Given the description of an element on the screen output the (x, y) to click on. 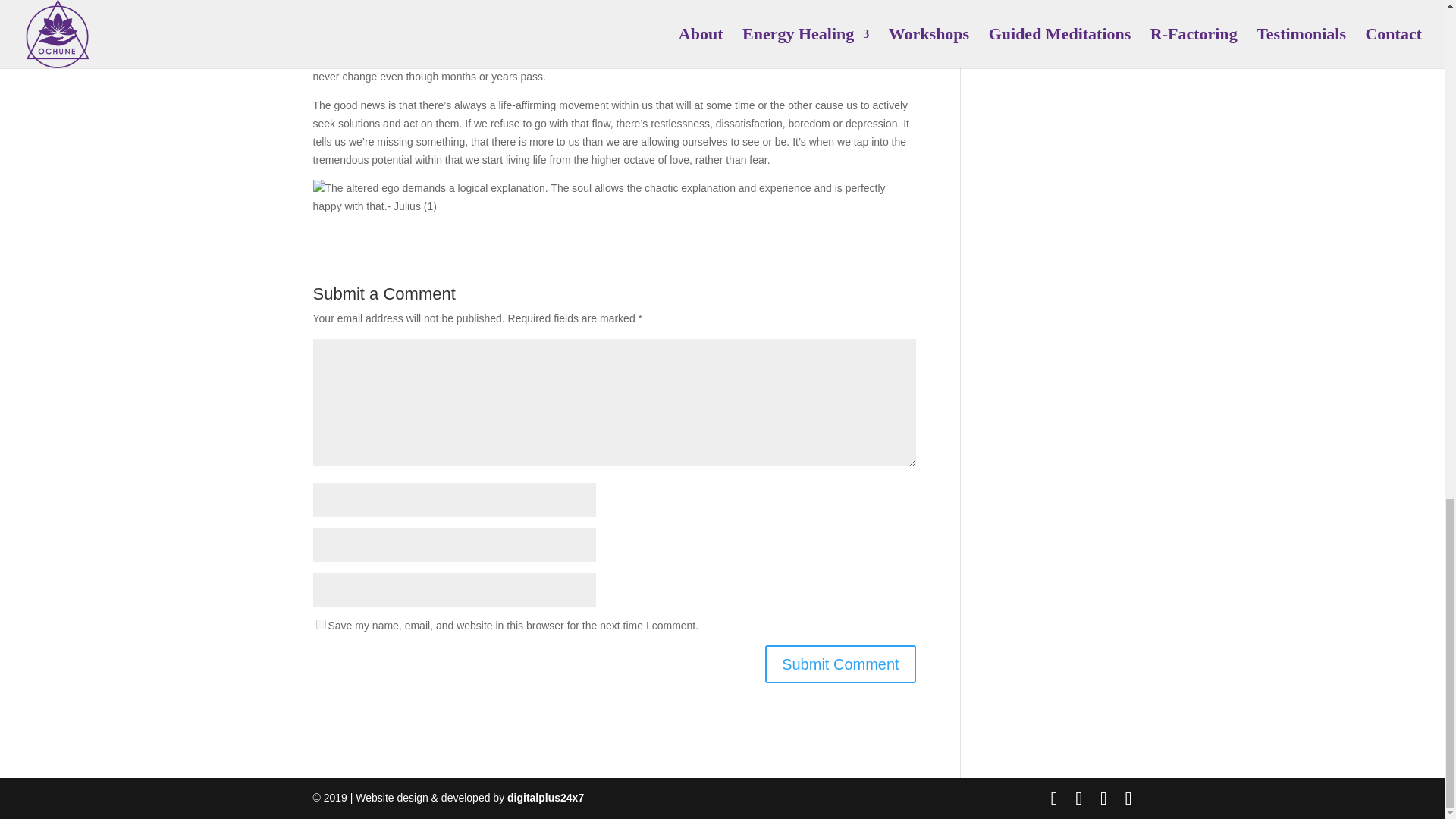
Submit Comment (840, 664)
Submit Comment (840, 664)
yes (319, 624)
